Given the description of an element on the screen output the (x, y) to click on. 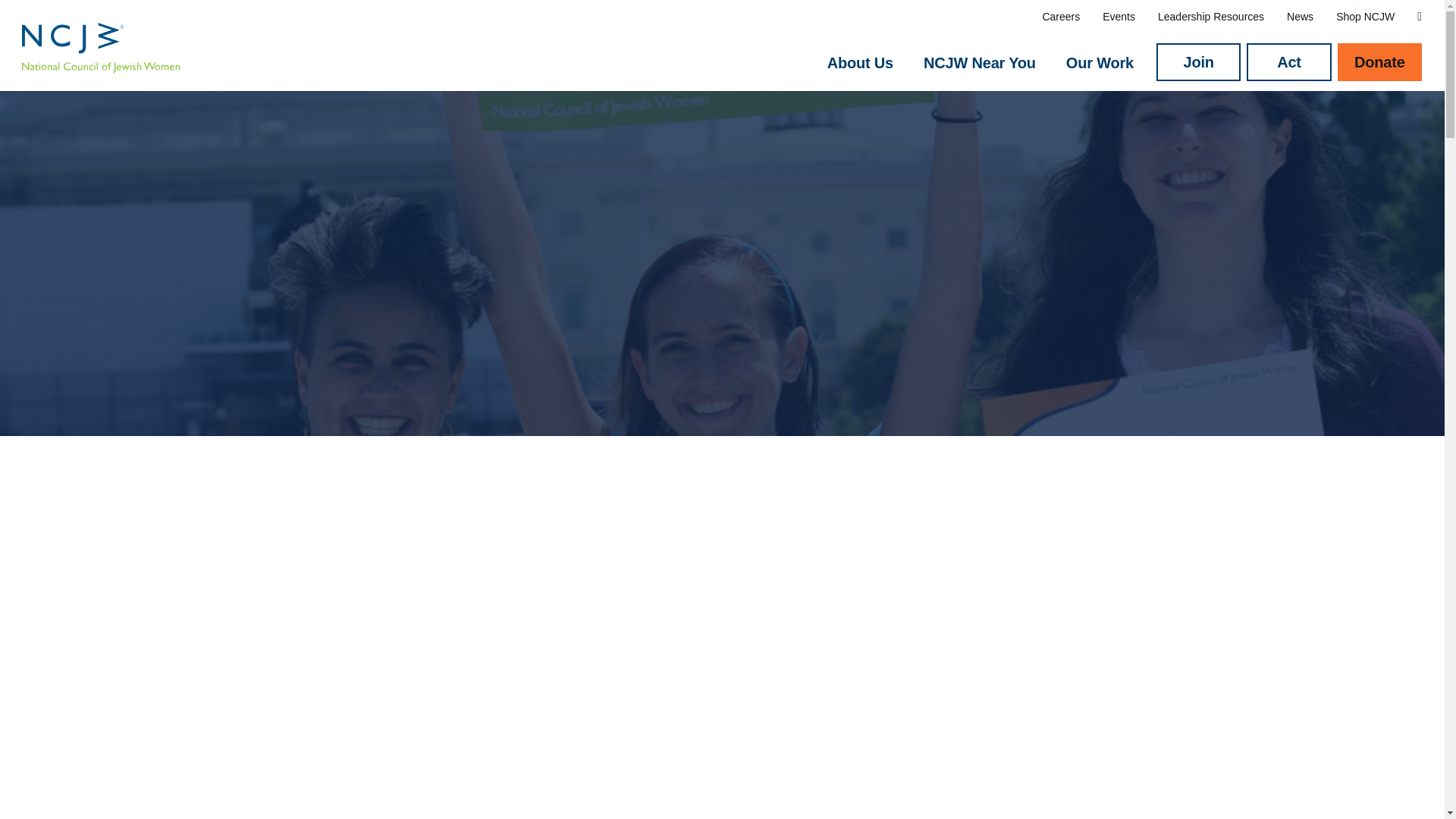
Act (1288, 62)
Our Work (1099, 62)
Careers (1061, 16)
Donate (1380, 62)
Shop NCJW (1365, 16)
About Us (860, 62)
NCJW Near You (979, 62)
News (1300, 16)
Join (1198, 62)
Events (1118, 16)
